Given the description of an element on the screen output the (x, y) to click on. 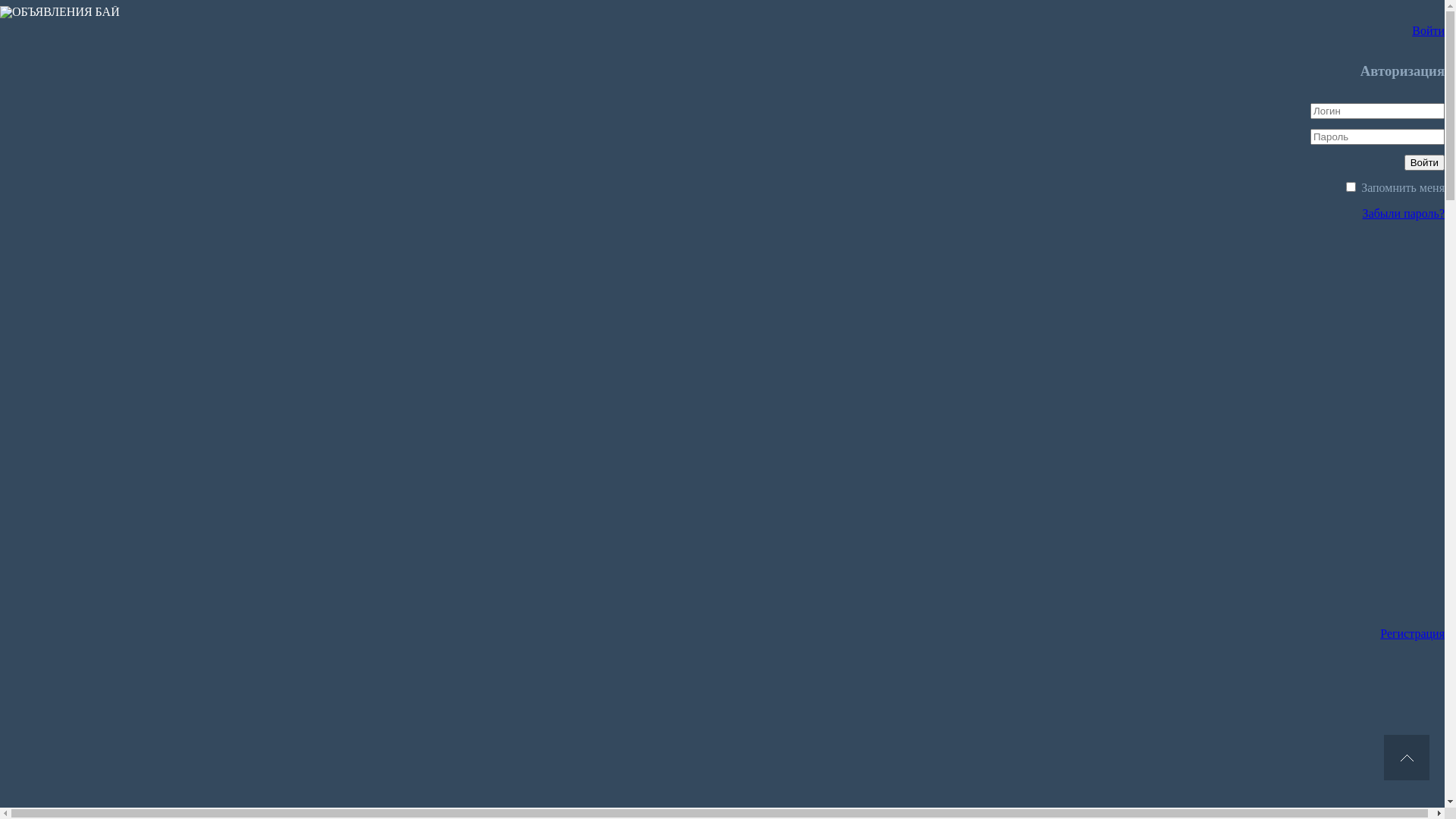
Use Google account Element type: hover (814, 436)
IT & HI-tech Element type: text (37, 681)
Use Facebook account Element type: hover (814, 733)
  Element type: text (1406, 757)
Use VKontakte account Element type: hover (814, 559)
Use Facebook account Element type: hover (814, 313)
IT & HI-tech Element type: text (68, 24)
